Given the description of an element on the screen output the (x, y) to click on. 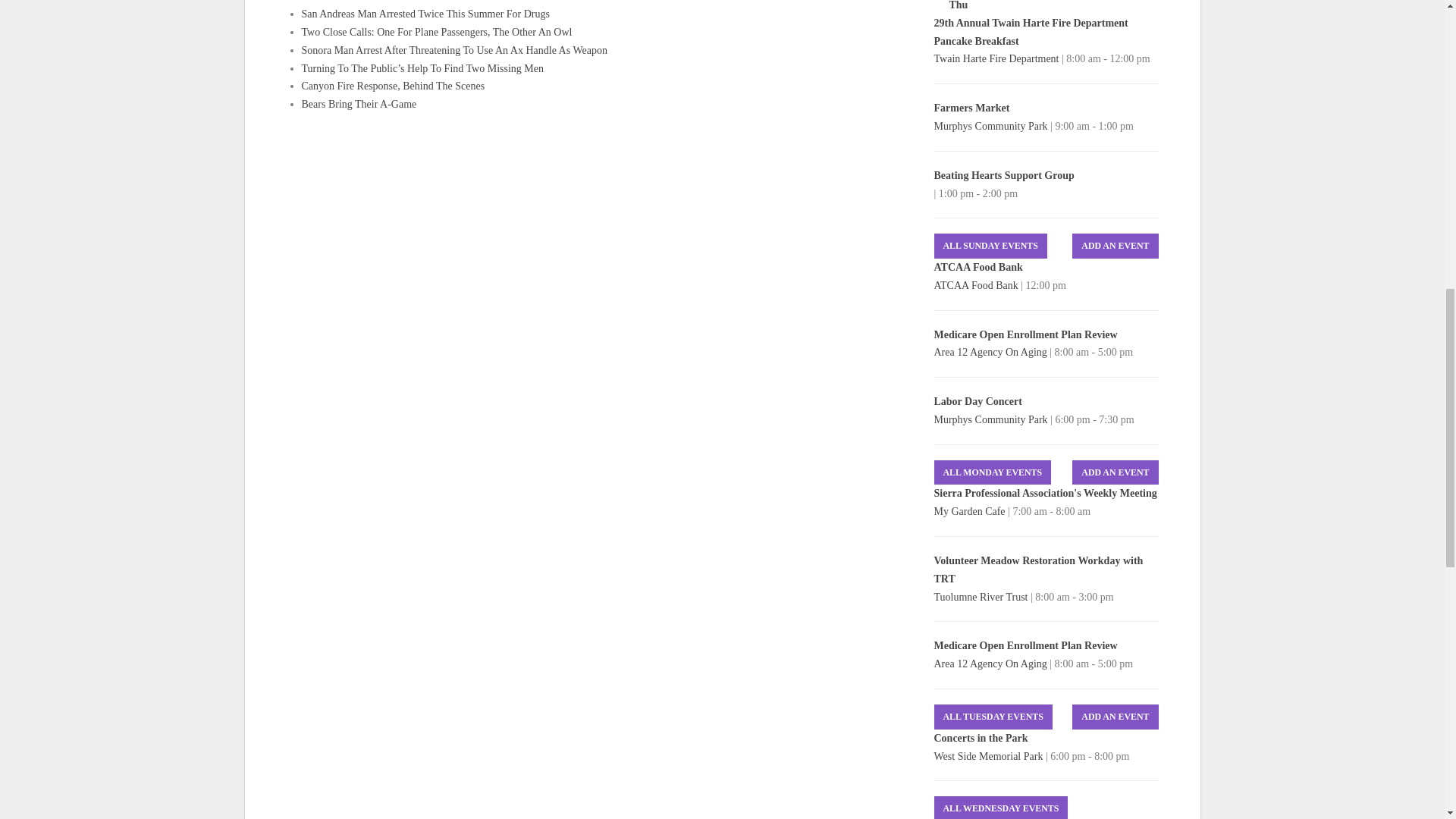
All Tuesday Events (993, 716)
All Wednesday Events (1001, 807)
Add An Event (1114, 472)
All Sunday Events (990, 245)
Add An Event (1114, 245)
All Monday Events (992, 472)
Add An Event (1114, 716)
